Given the description of an element on the screen output the (x, y) to click on. 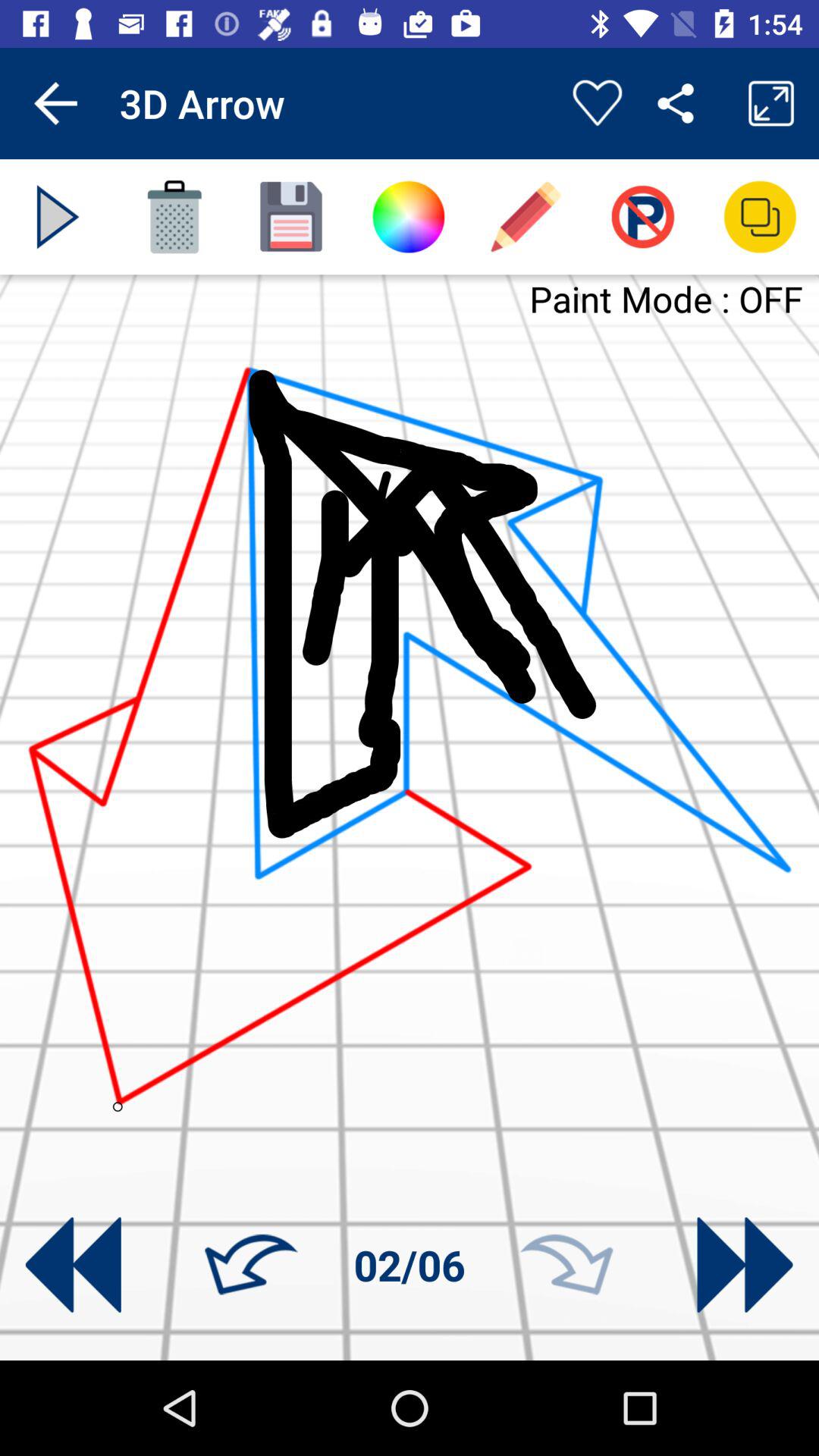
toggle paint mode (642, 216)
